Given the description of an element on the screen output the (x, y) to click on. 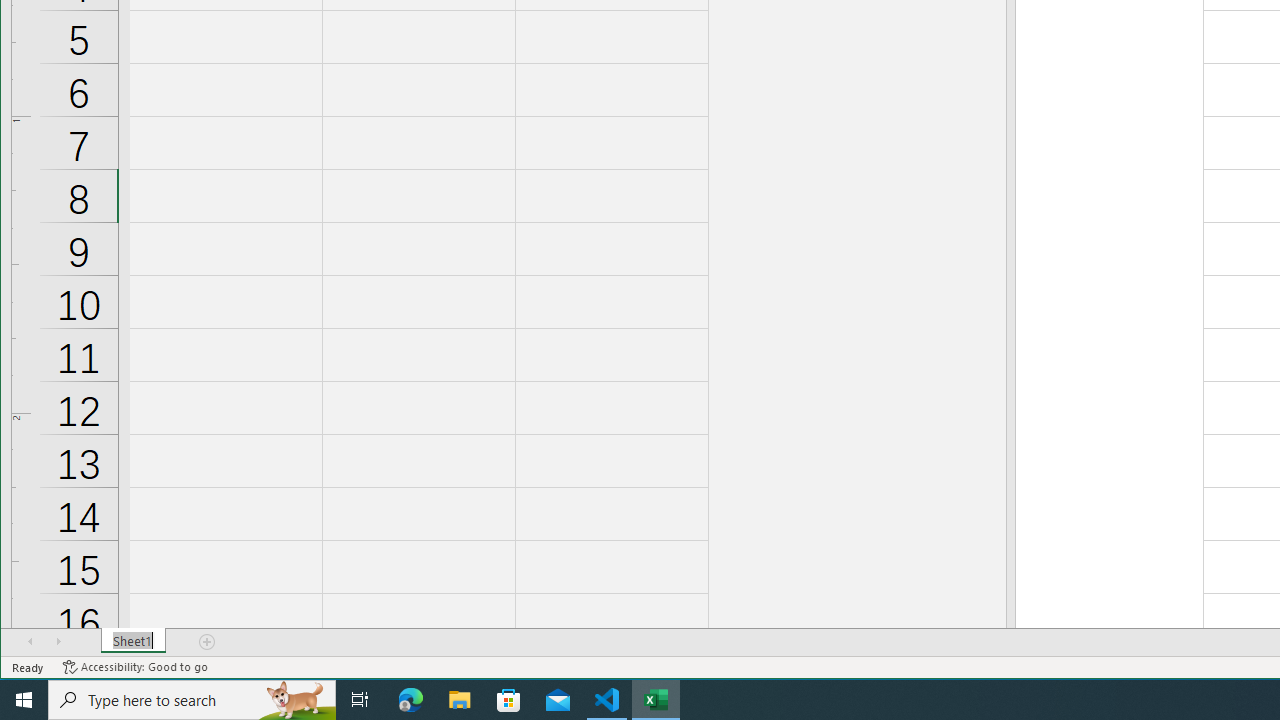
Sheet Tab (133, 641)
Visual Studio Code - 1 running window (607, 699)
Task View (359, 699)
Microsoft Edge (411, 699)
Accessibility Checker Accessibility: Good to go (135, 667)
Excel - 1 running window (656, 699)
Sheet1 (133, 641)
Scroll Right (58, 641)
File Explorer (460, 699)
Microsoft Store (509, 699)
Type here to search (191, 699)
Search highlights icon opens search home window (295, 699)
Scroll Left (30, 641)
Add Sheet (207, 641)
